Given the description of an element on the screen output the (x, y) to click on. 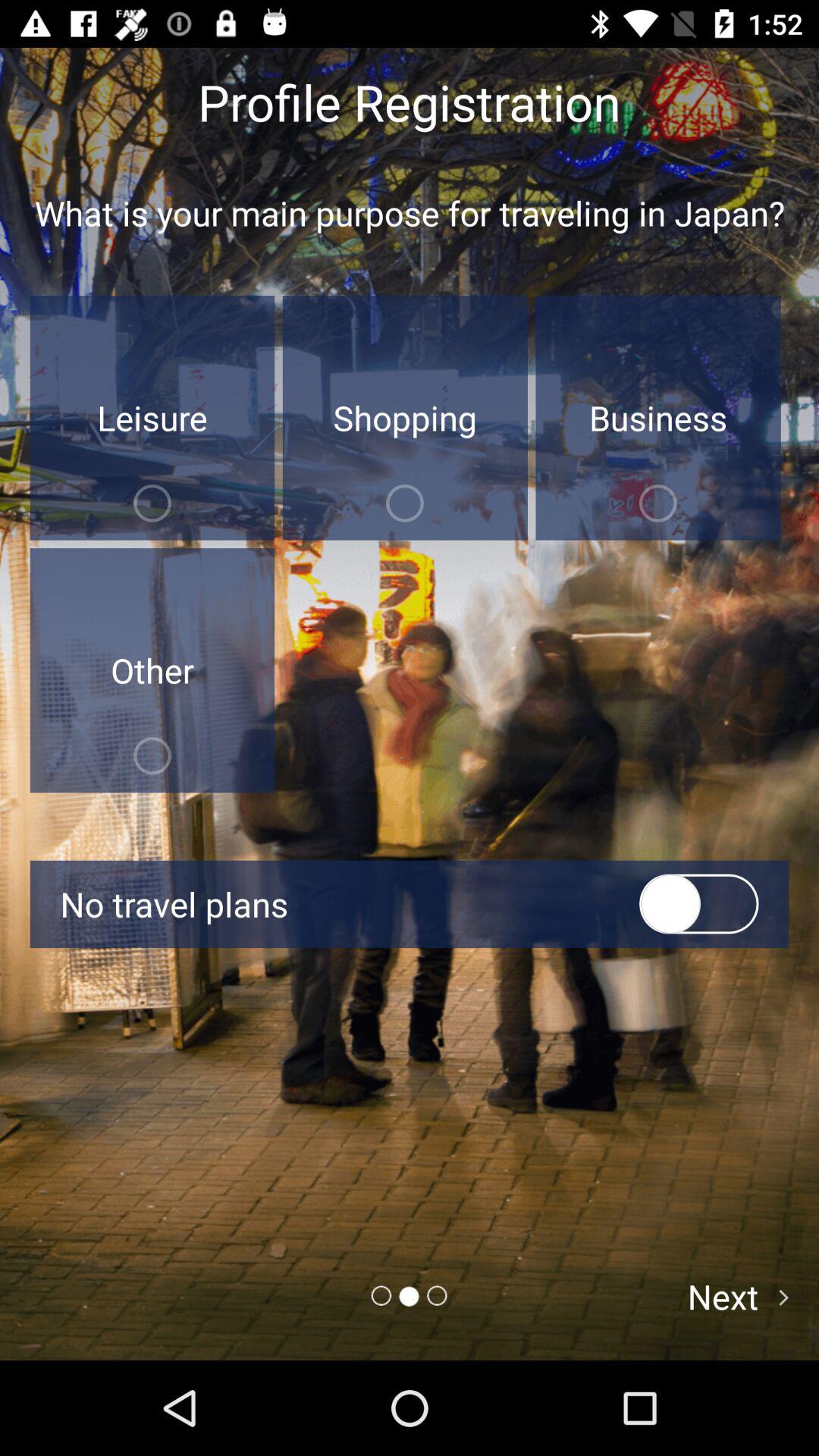
toggle option (698, 903)
